Given the description of an element on the screen output the (x, y) to click on. 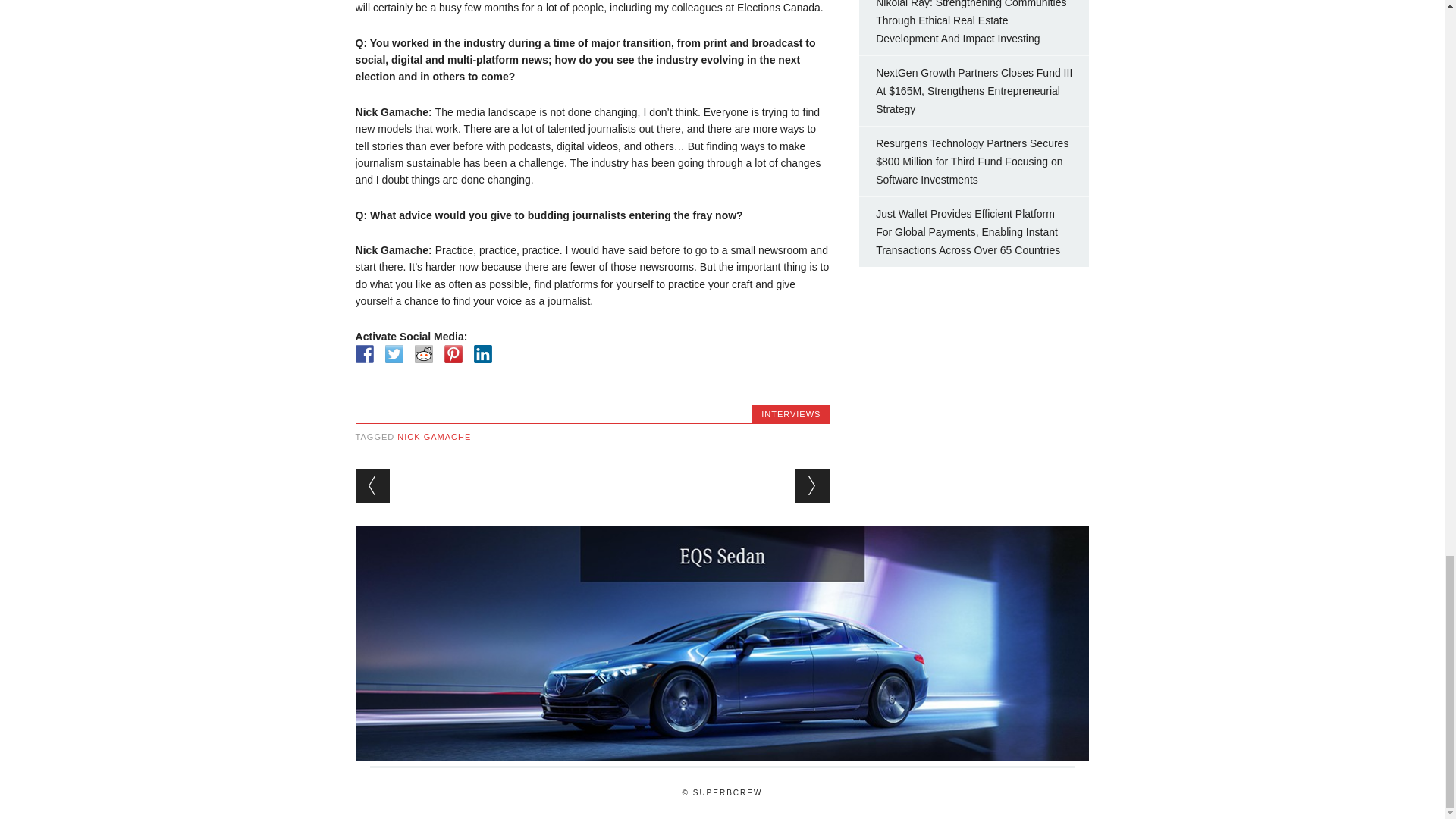
Pin it with Pinterest (453, 353)
Share on Linkedin (483, 353)
Share on Facebook (364, 353)
Share on Reddit (423, 353)
Share on Twitter (394, 353)
INTERVIEWS (791, 413)
